Given the description of an element on the screen output the (x, y) to click on. 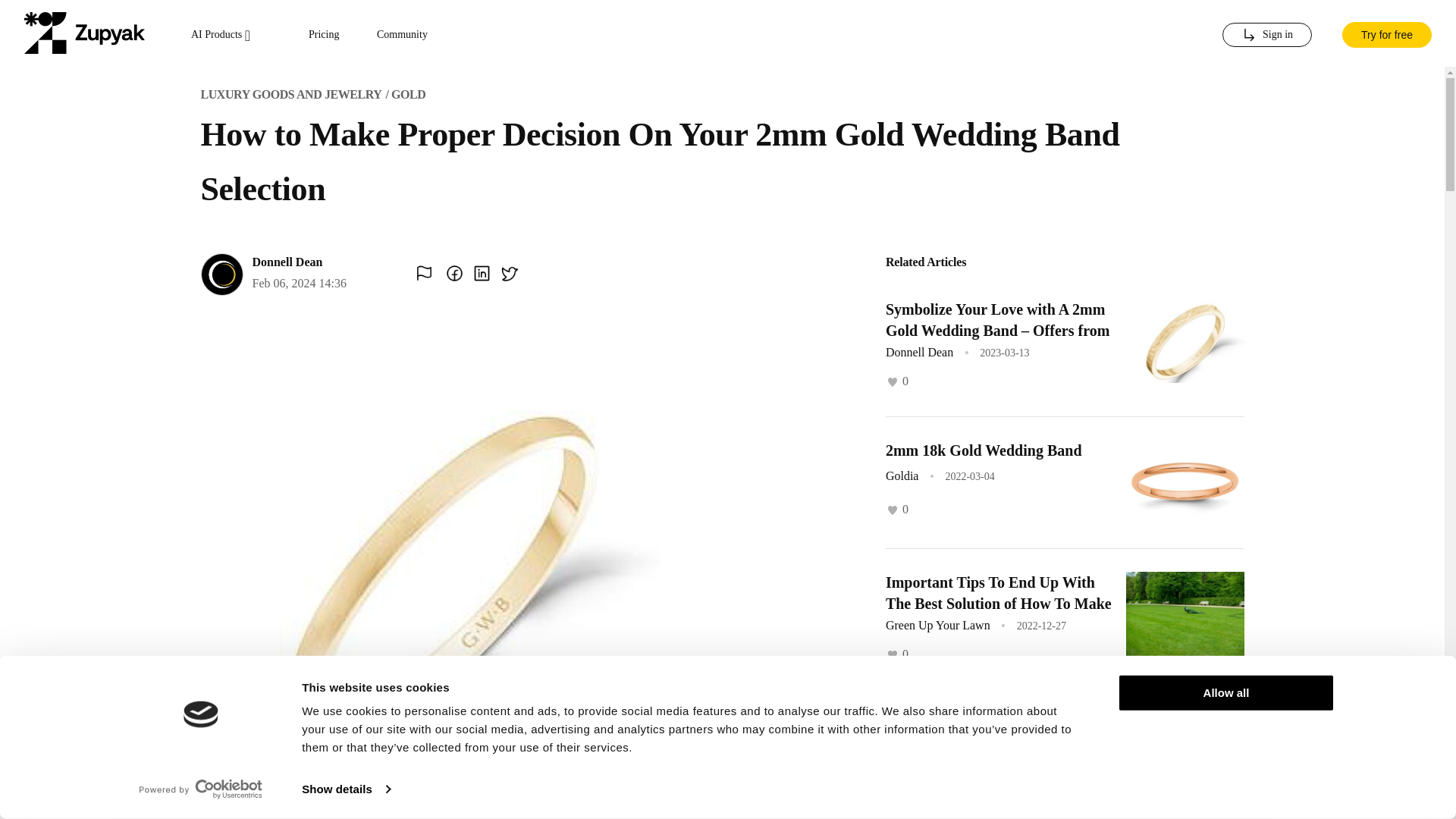
Show details (345, 789)
2mm 18k Gold Wedding Band (983, 449)
How to make your VPN undetectable (963, 733)
